Given the description of an element on the screen output the (x, y) to click on. 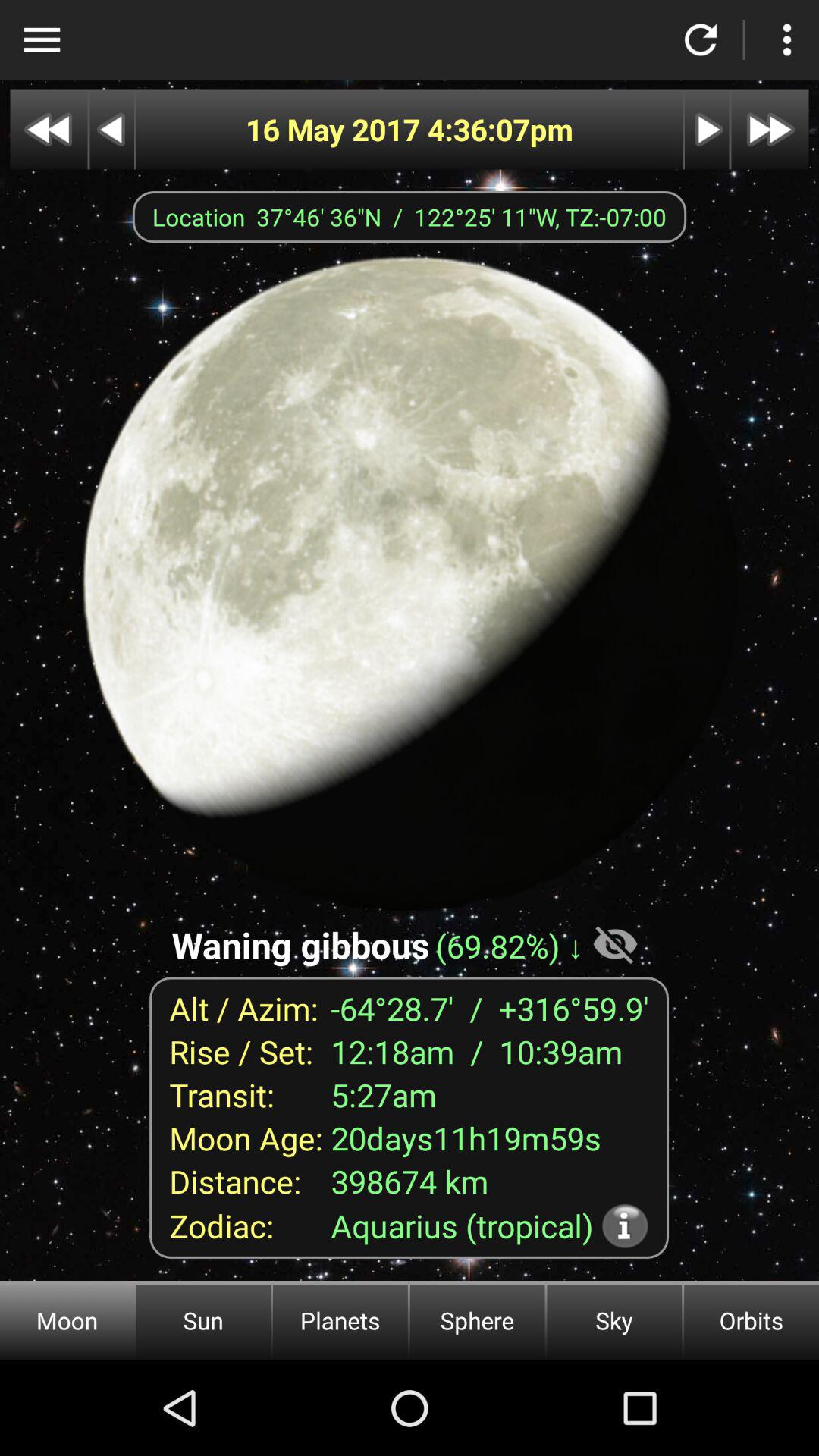
turn on icon next to 4:36:07 item (336, 129)
